Given the description of an element on the screen output the (x, y) to click on. 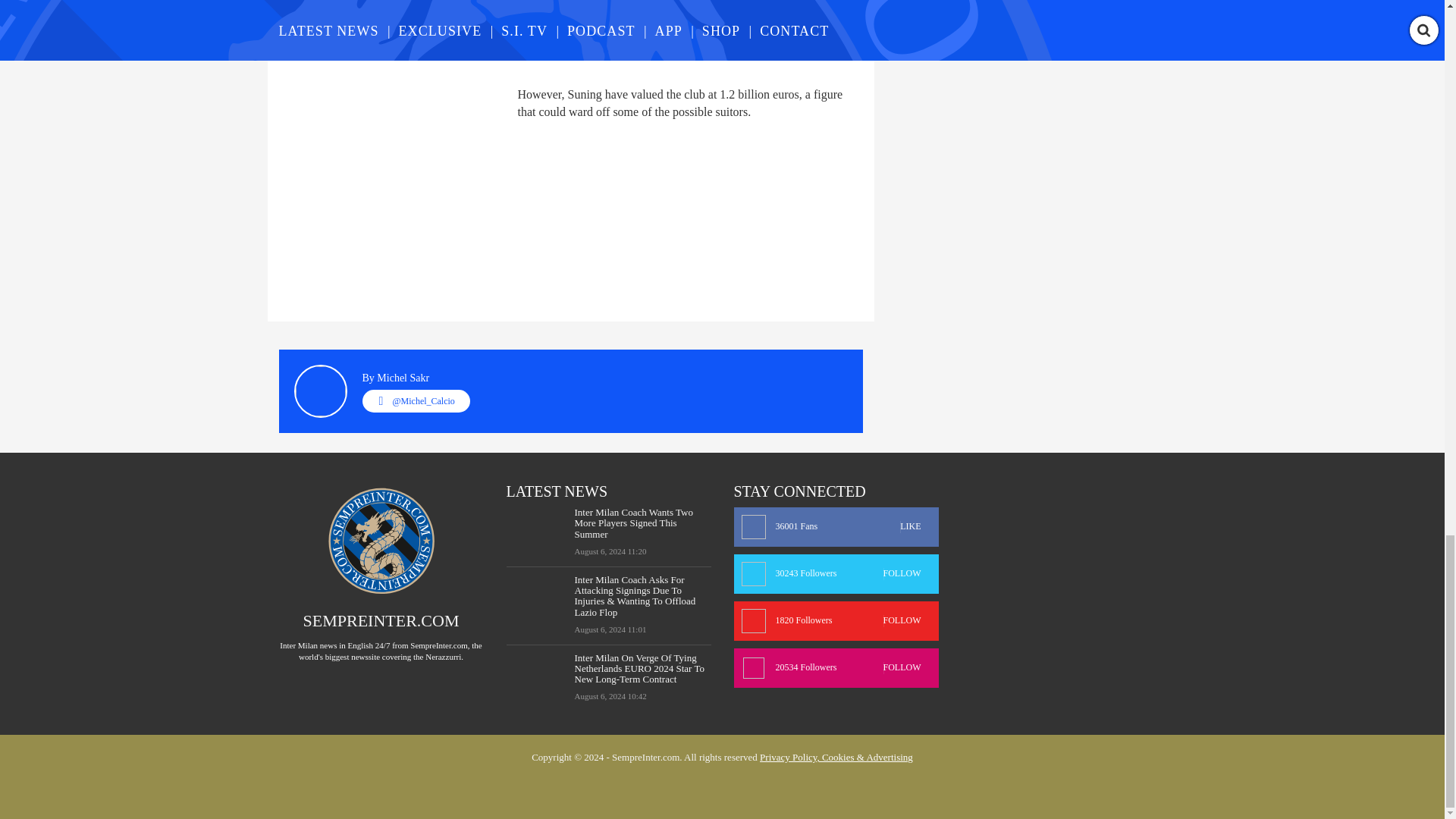
Inter Milan Coach Wants Two More Players Signed This Summer (643, 522)
SEMPREINTER.COM (381, 619)
View more articles by Michel Sakr (403, 378)
YouTube video player (491, 34)
Michel Sakr (403, 378)
